Given the description of an element on the screen output the (x, y) to click on. 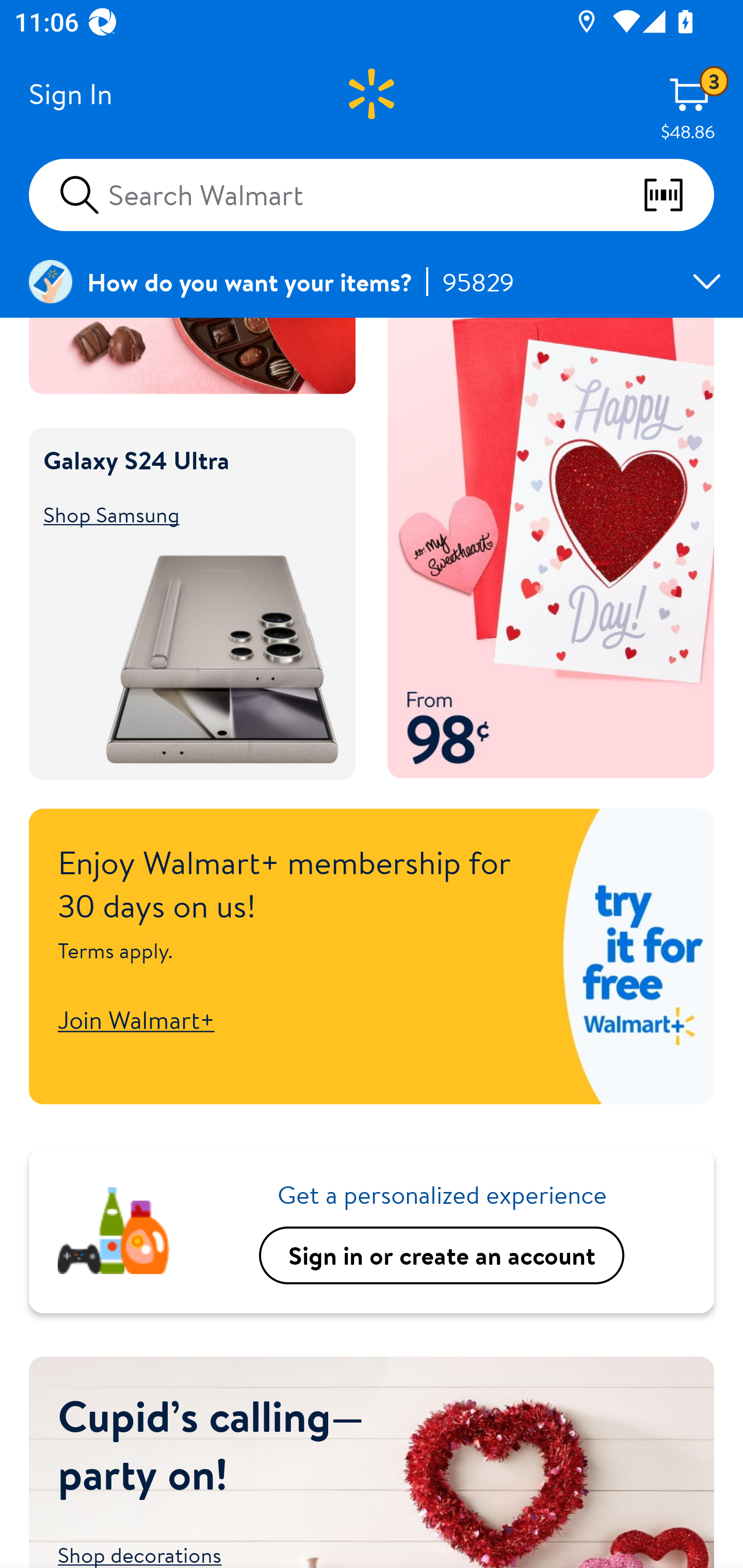
Sign In (70, 93)
Search Walmart scan barcodes qr codes and more (371, 194)
scan barcodes qr codes and more (677, 195)
Say it from the heart  Shop cards Shop cards (550, 547)
Shop Samsung Shop Samsung Galaxy S24 Ultra (183, 514)
Sign in or create an account (441, 1255)
